Given the description of an element on the screen output the (x, y) to click on. 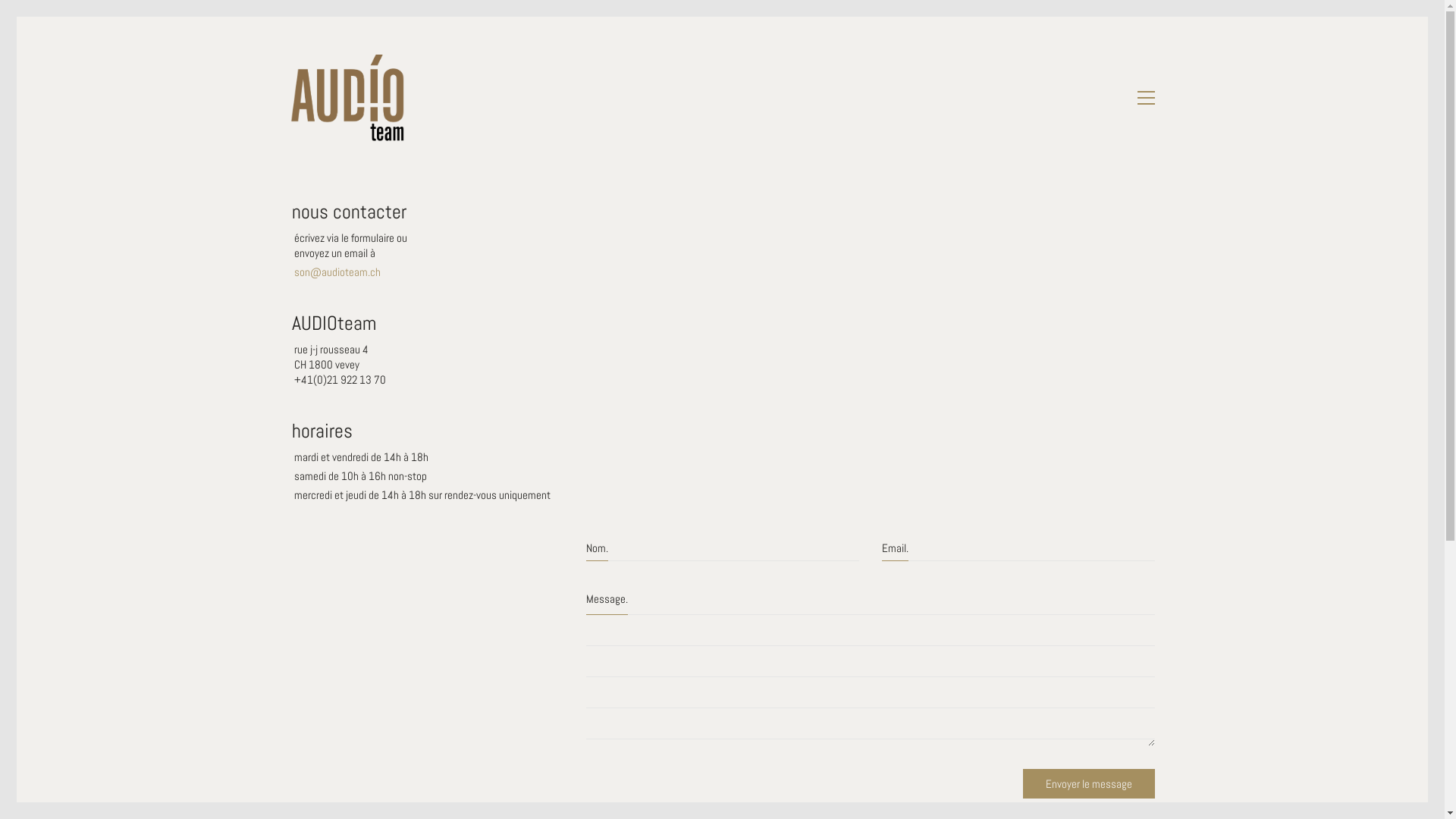
son@audioteam.ch Element type: text (337, 271)
Envoyer le message Element type: text (1088, 783)
